Given the description of an element on the screen output the (x, y) to click on. 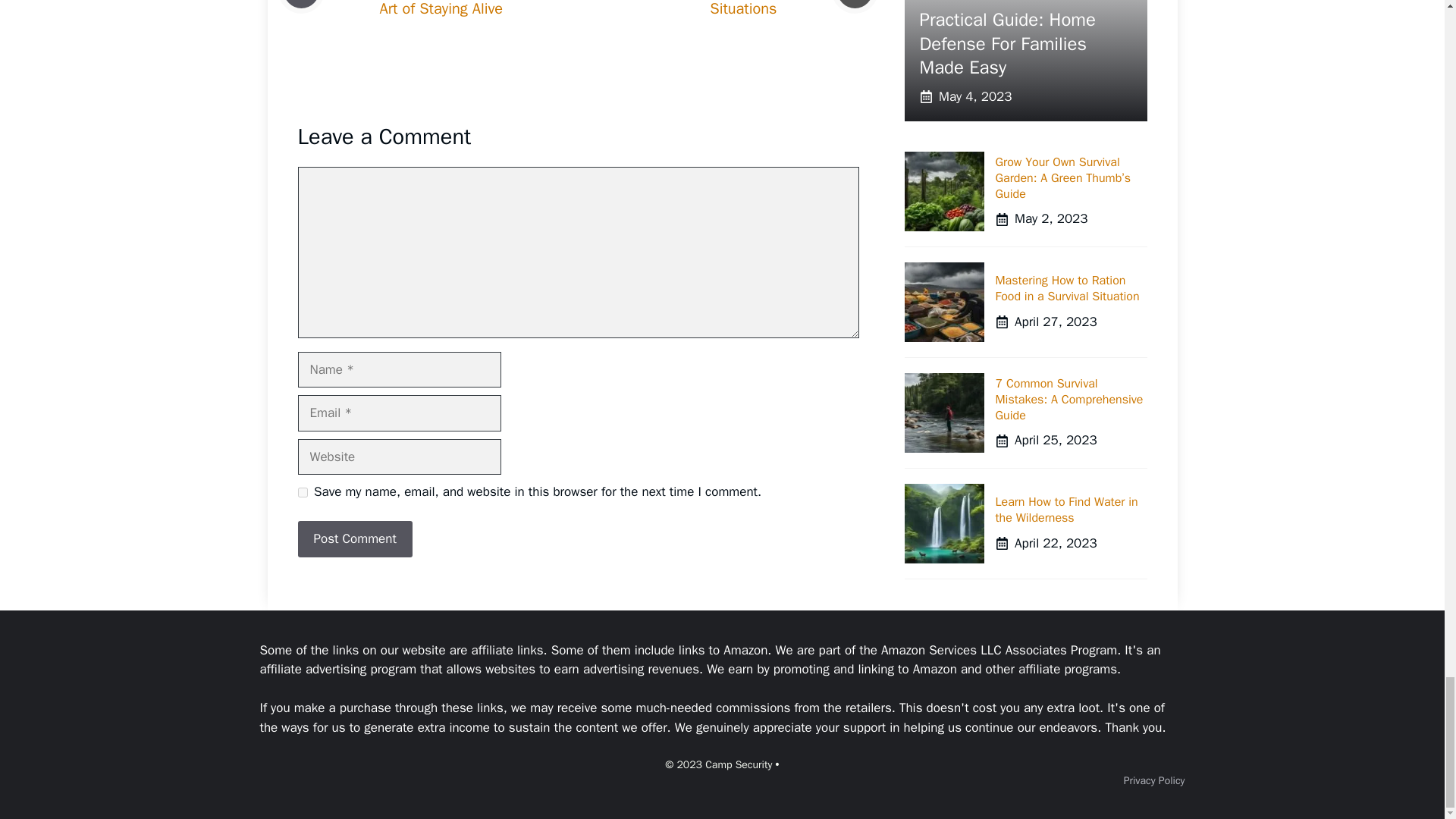
The Role of Mental Health in Survival Situations (714, 9)
Post Comment (354, 538)
yes (302, 492)
Post Comment (354, 538)
